Given the description of an element on the screen output the (x, y) to click on. 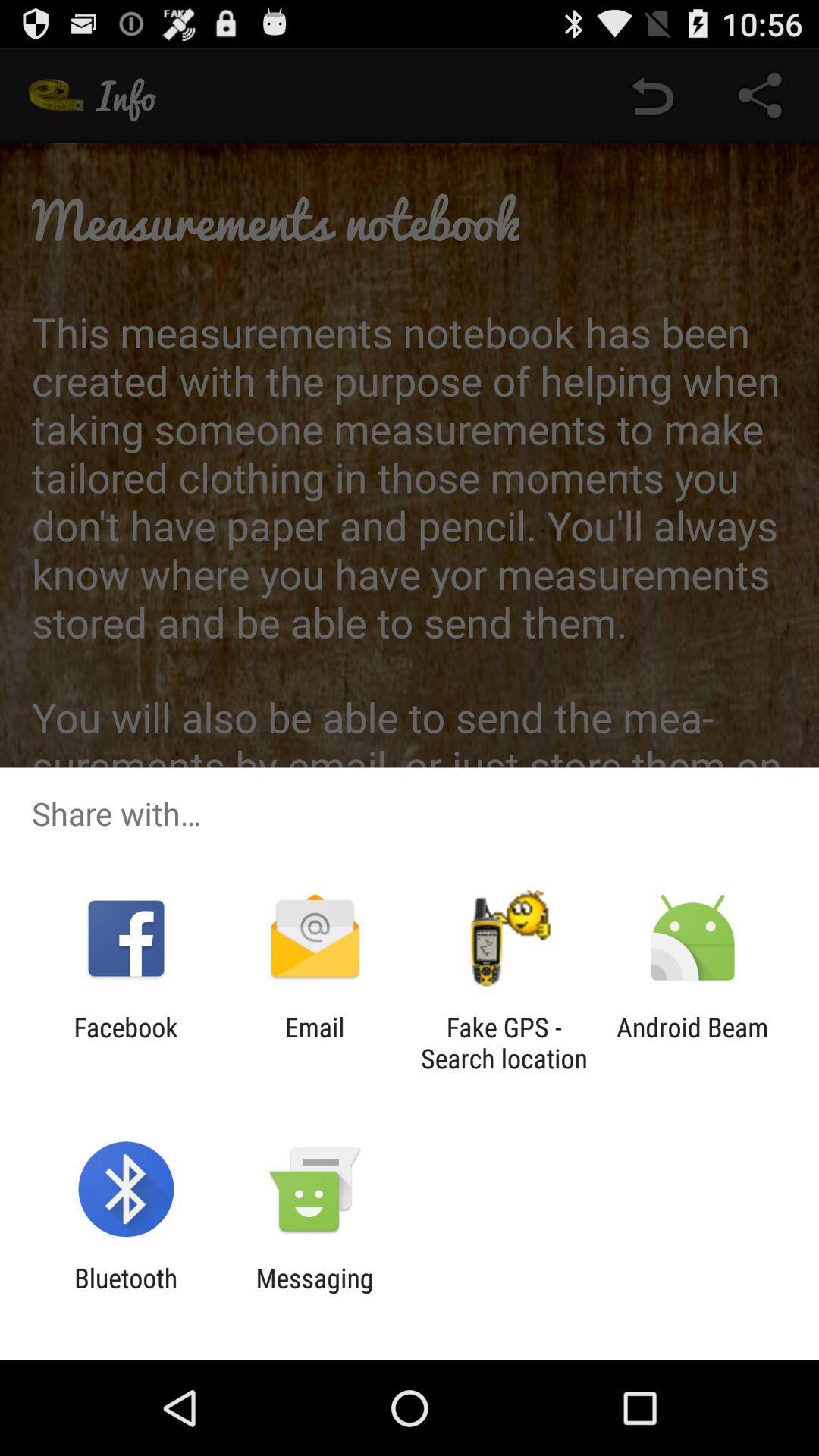
jump to the android beam icon (692, 1042)
